Given the description of an element on the screen output the (x, y) to click on. 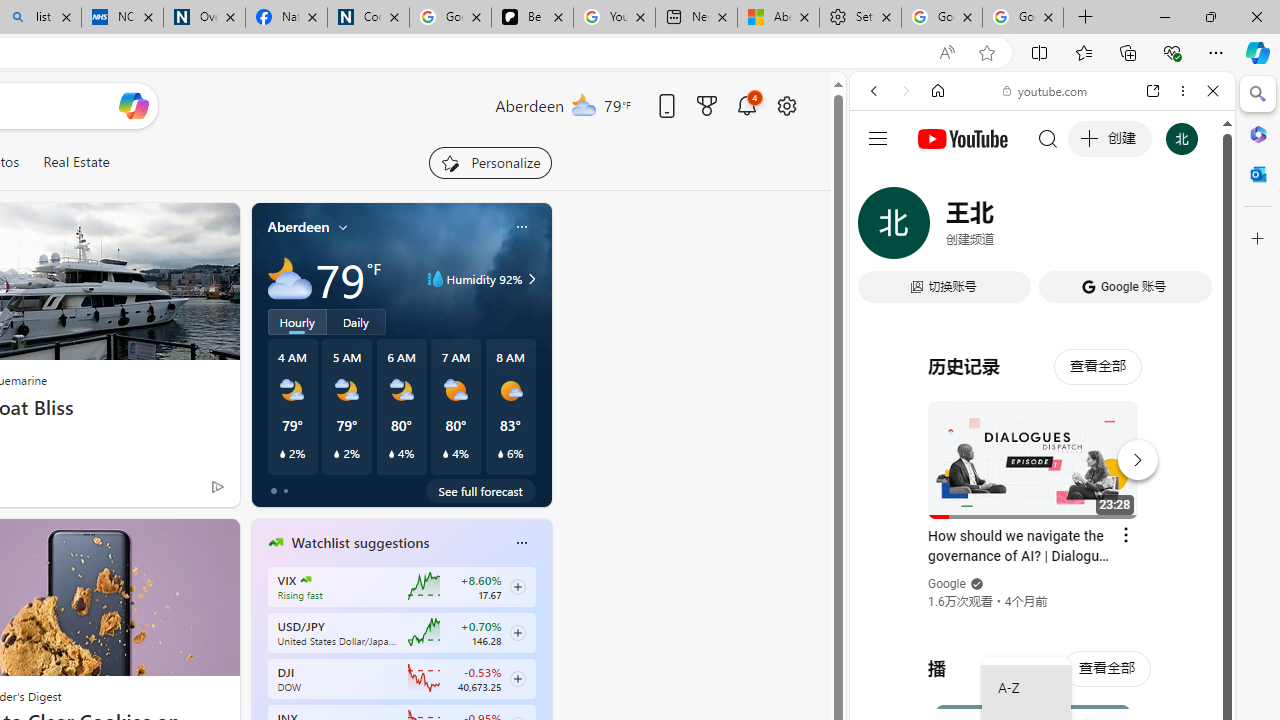
tab-0 (273, 490)
Class: weather-arrow-glyph (531, 278)
